Given the description of an element on the screen output the (x, y) to click on. 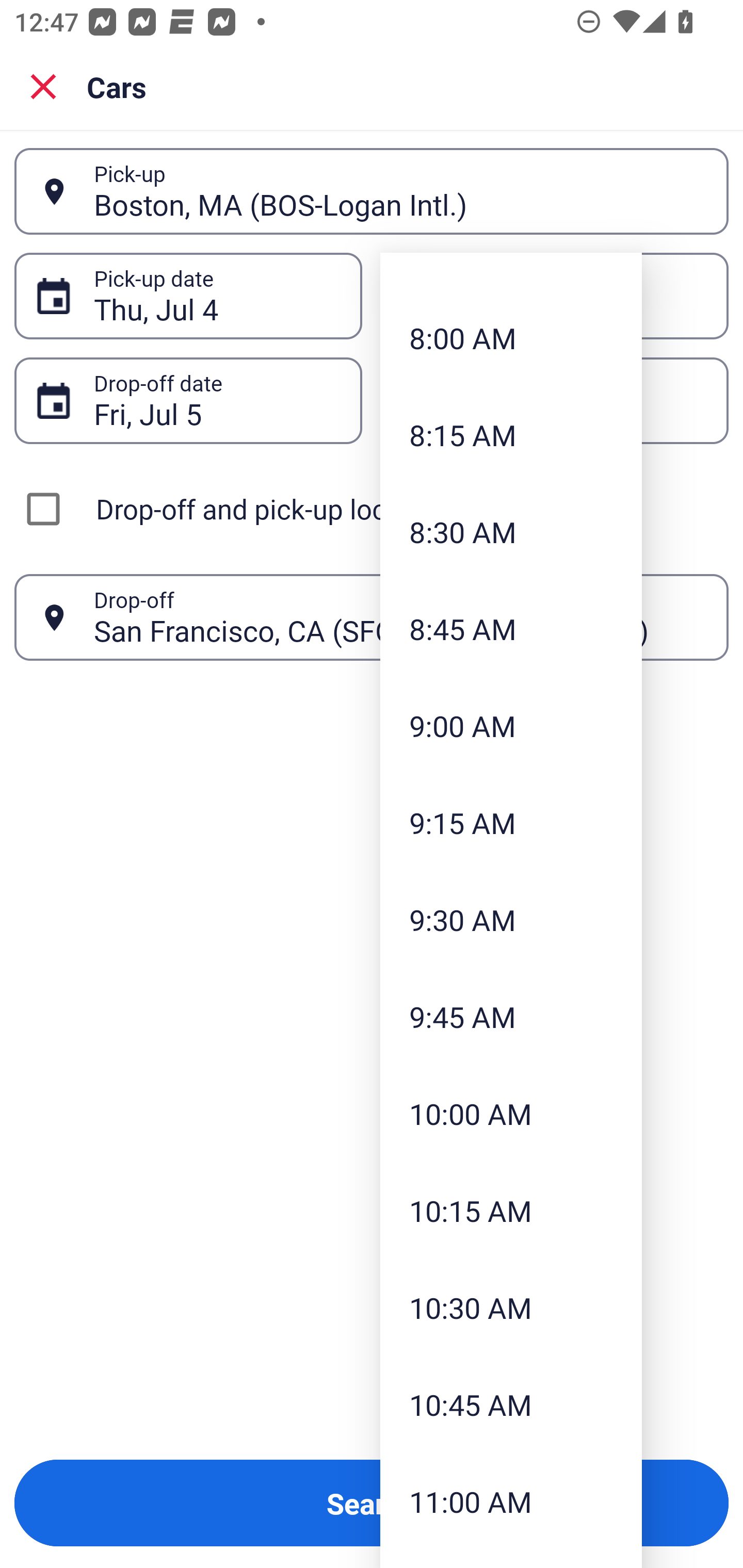
8:00 AM (510, 337)
8:15 AM (510, 433)
8:30 AM (510, 531)
8:45 AM (510, 628)
9:00 AM (510, 725)
9:15 AM (510, 822)
9:30 AM (510, 919)
9:45 AM (510, 1015)
10:00 AM (510, 1112)
10:15 AM (510, 1210)
10:30 AM (510, 1307)
10:45 AM (510, 1404)
11:00 AM (510, 1501)
